Given the description of an element on the screen output the (x, y) to click on. 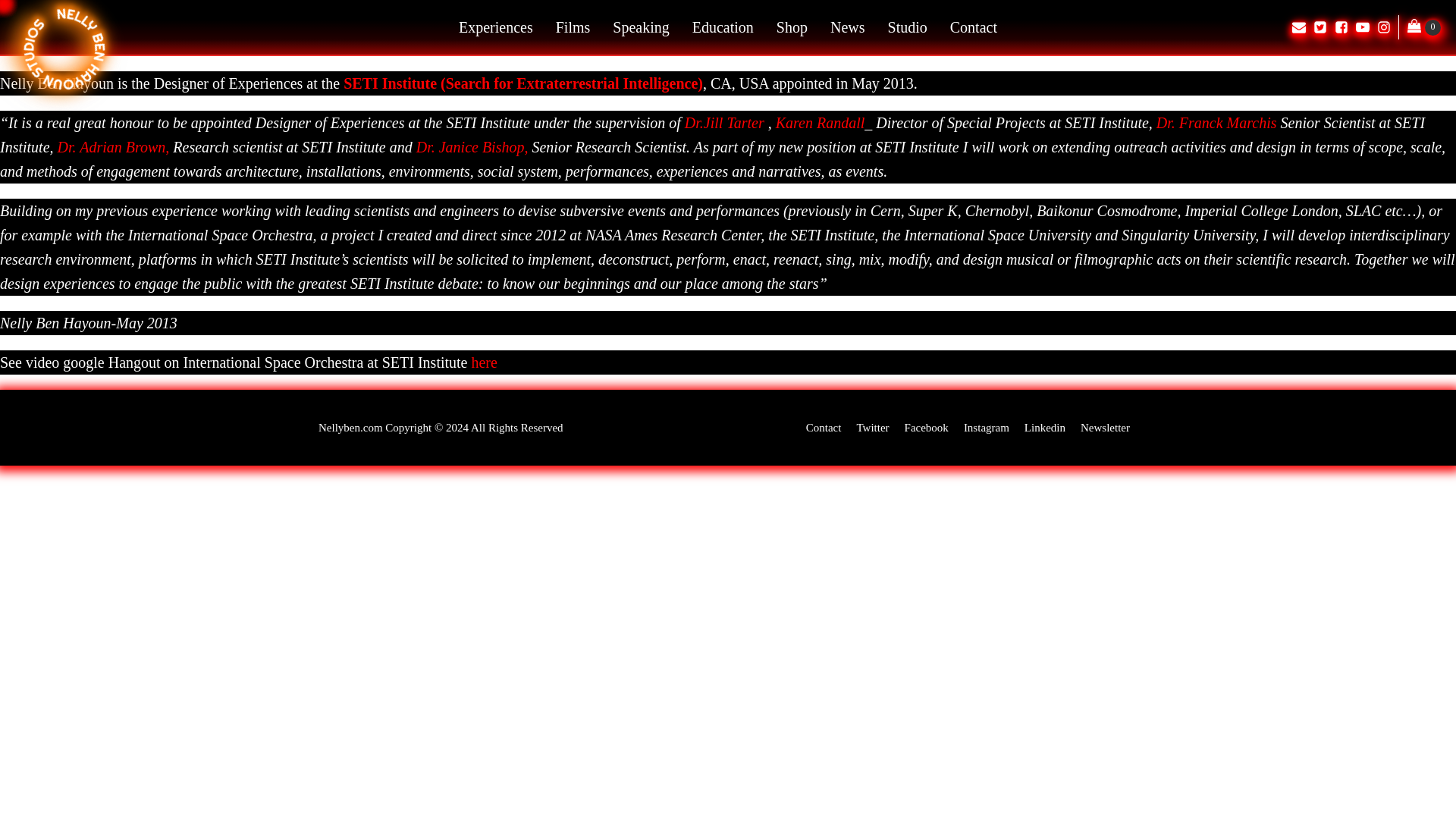
Dr.Jill Tarter (724, 122)
Shop (791, 27)
Newsletter (1105, 427)
News (847, 27)
Twitter (872, 427)
Linkedin (1044, 427)
Facebook (926, 427)
Speaking (640, 27)
Contact (974, 27)
Karen Randall (820, 122)
Contact (822, 427)
Films (573, 27)
Dr. Franck Marchis (1218, 122)
Go to Cart (1424, 27)
Experiences (495, 27)
